Given the description of an element on the screen output the (x, y) to click on. 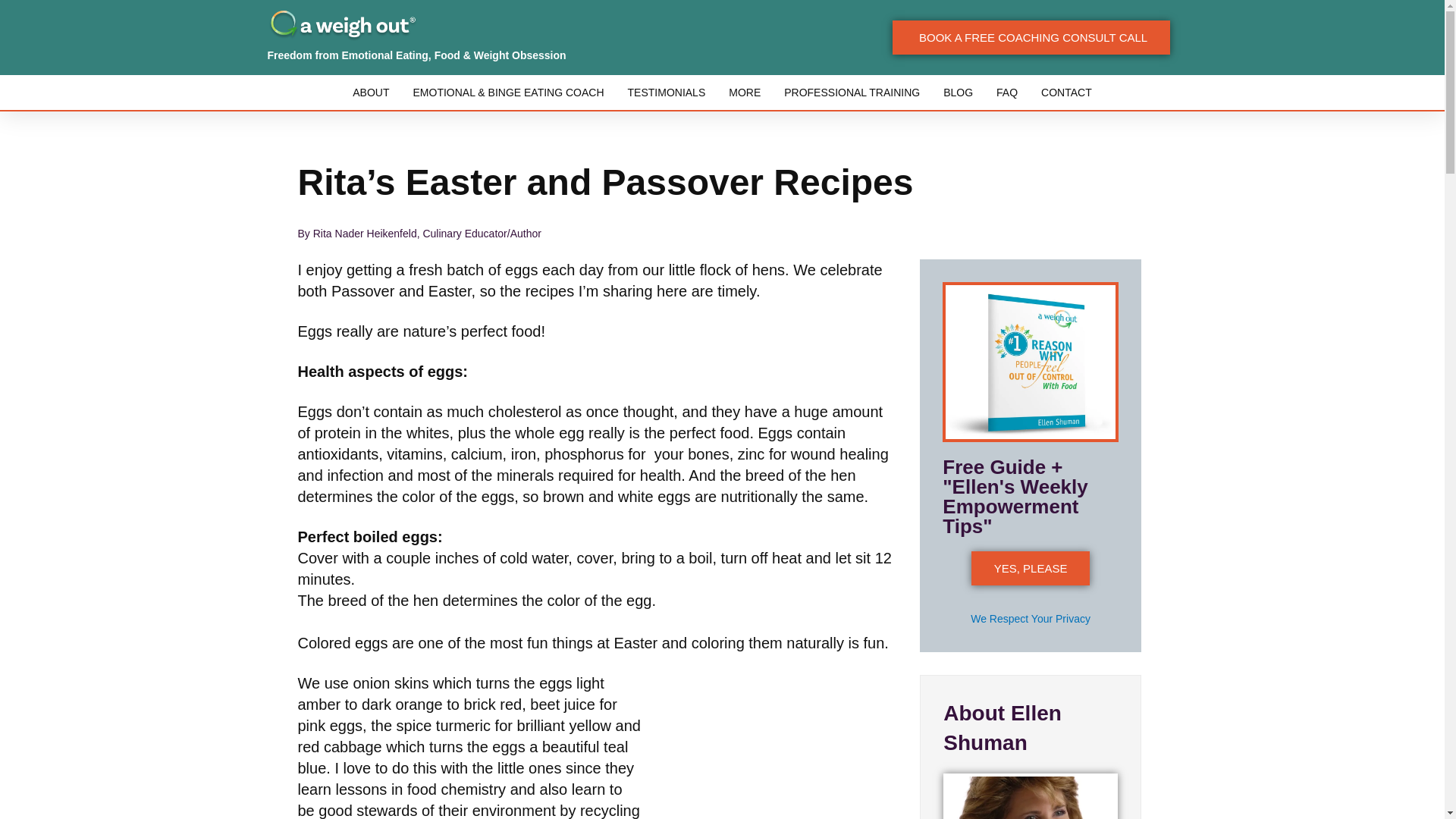
Rita Colored Easter Eggs (778, 736)
BOOK A FREE COACHING CONSULT CALL (1031, 37)
CONTACT (1066, 92)
PROFESSIONAL TRAINING (852, 92)
TESTIMONIALS (666, 92)
ABOUT (370, 92)
MORE (744, 92)
